Given the description of an element on the screen output the (x, y) to click on. 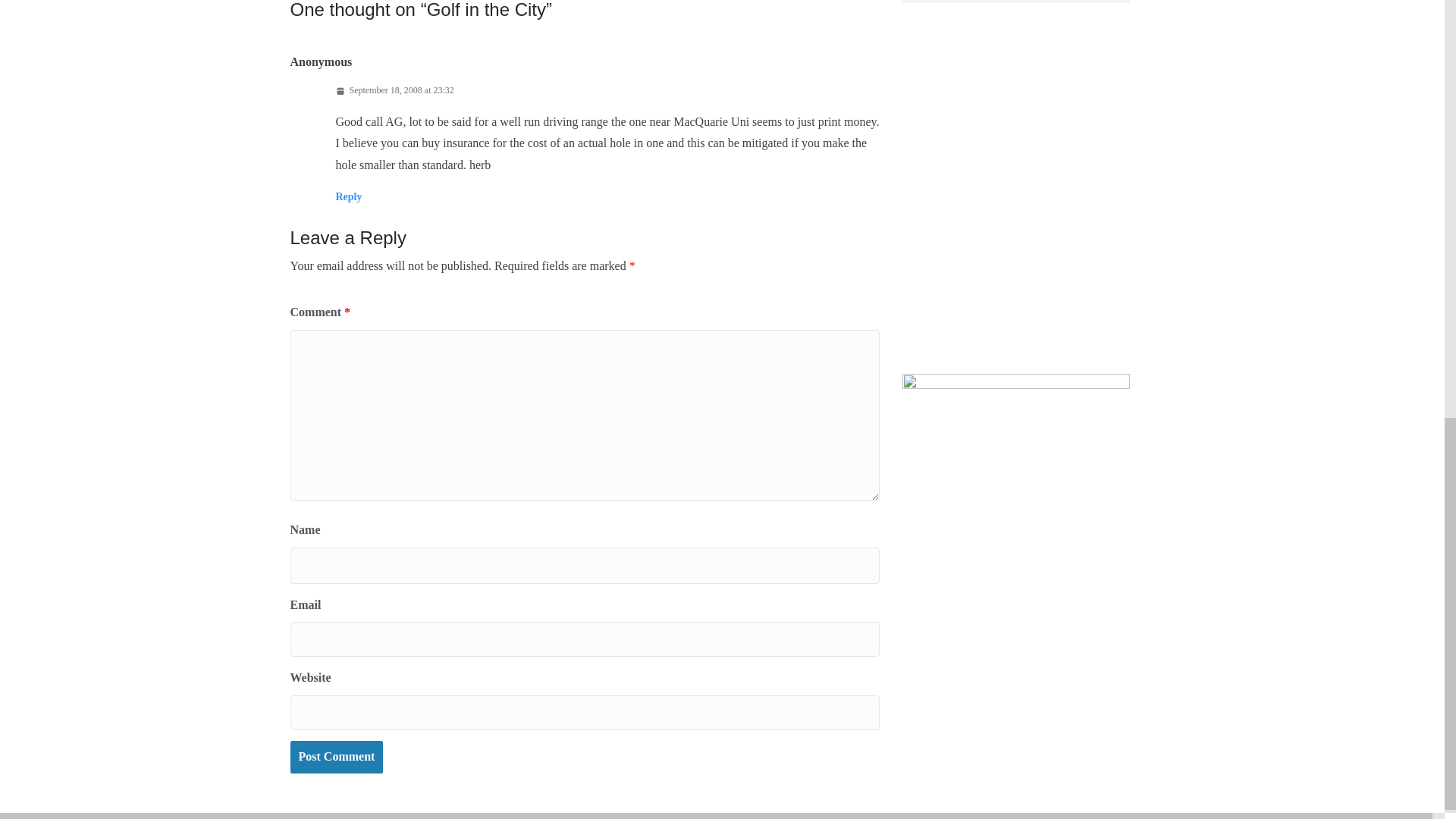
Post Comment (335, 757)
Post Comment (335, 757)
Reply (347, 196)
